Given the description of an element on the screen output the (x, y) to click on. 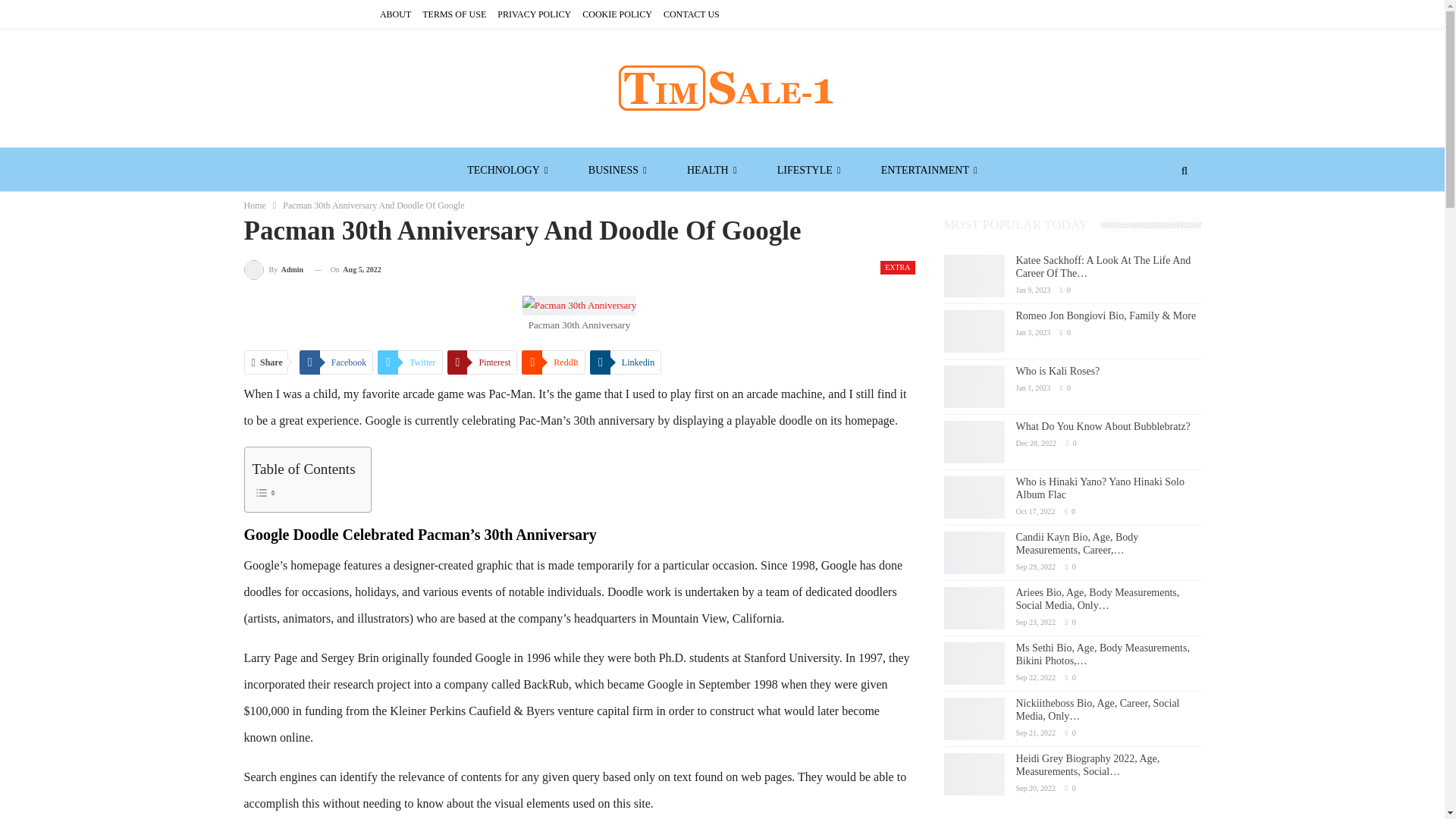
COOKIE POLICY (617, 14)
HEALTH (711, 170)
Pinterest (482, 362)
TECHNOLOGY (507, 170)
ENTERTAINMENT (928, 170)
EXTRA (897, 267)
ReddIt (553, 362)
Facebook (336, 362)
PRIVACY POLICY (533, 14)
CONTACT US (691, 14)
Linkedin (625, 362)
Browse Author Articles (274, 269)
By Admin (274, 269)
Home (255, 205)
LIFESTYLE (809, 170)
